Given the description of an element on the screen output the (x, y) to click on. 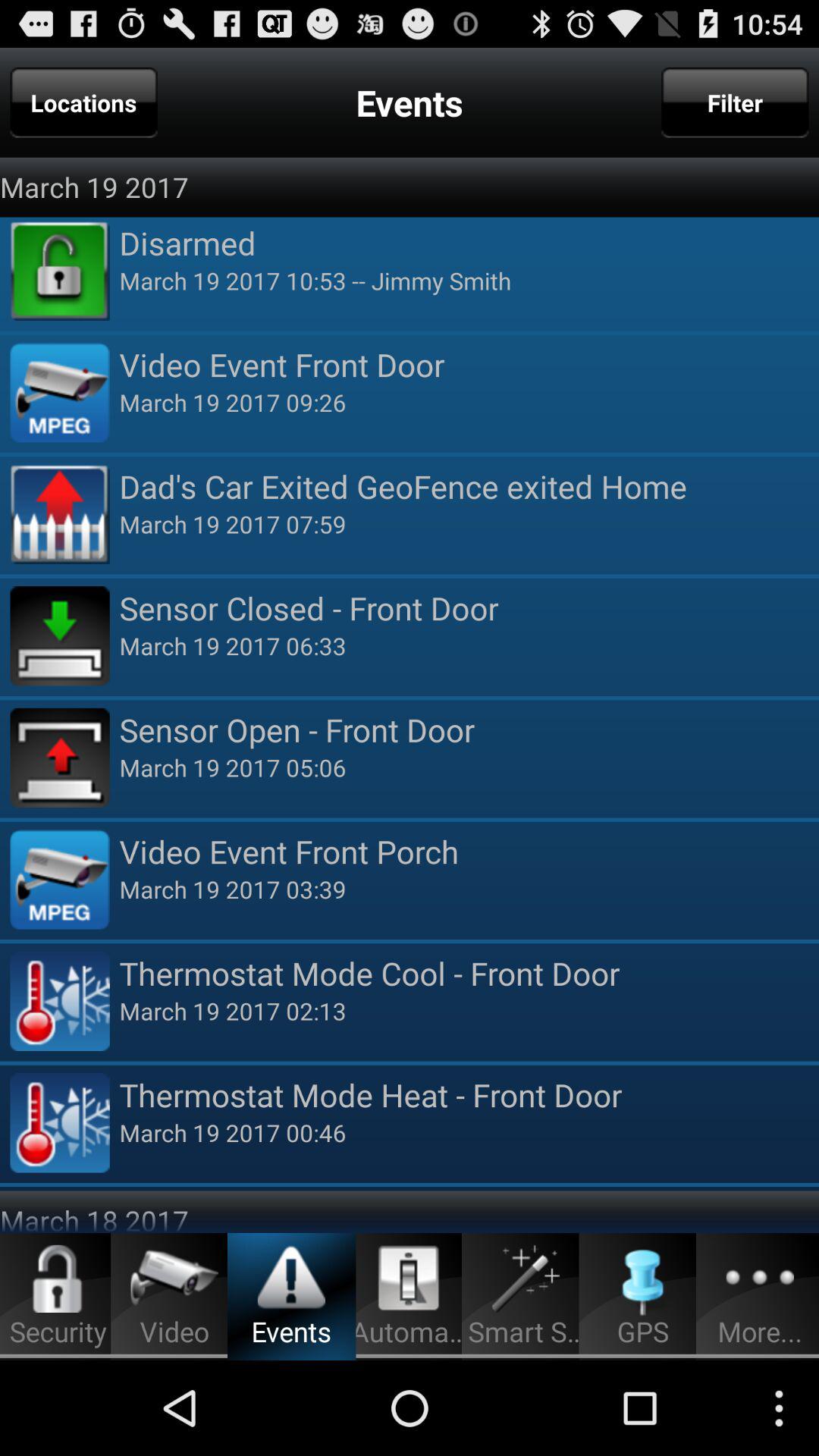
open the item above march 19 2017 (83, 102)
